Given the description of an element on the screen output the (x, y) to click on. 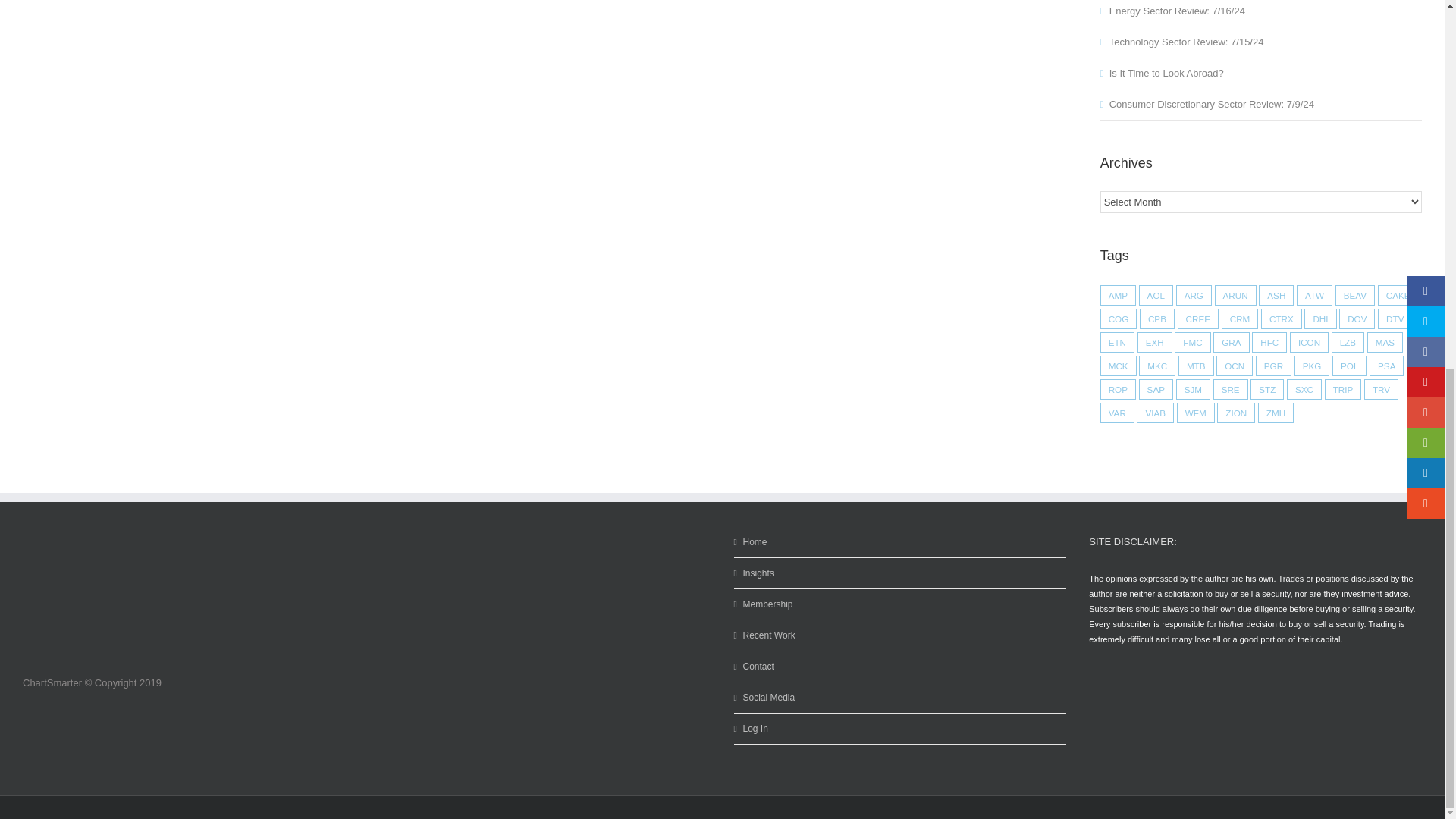
CPB (1157, 318)
Is It Time to Look Abroad? (1166, 72)
ASH (1276, 295)
COG (1118, 318)
AMP (1117, 295)
AOL (1155, 295)
CAKE (1397, 295)
BEAV (1354, 295)
ATW (1314, 295)
CRM (1240, 318)
ARG (1193, 295)
ARUN (1235, 295)
CREE (1197, 318)
